Given the description of an element on the screen output the (x, y) to click on. 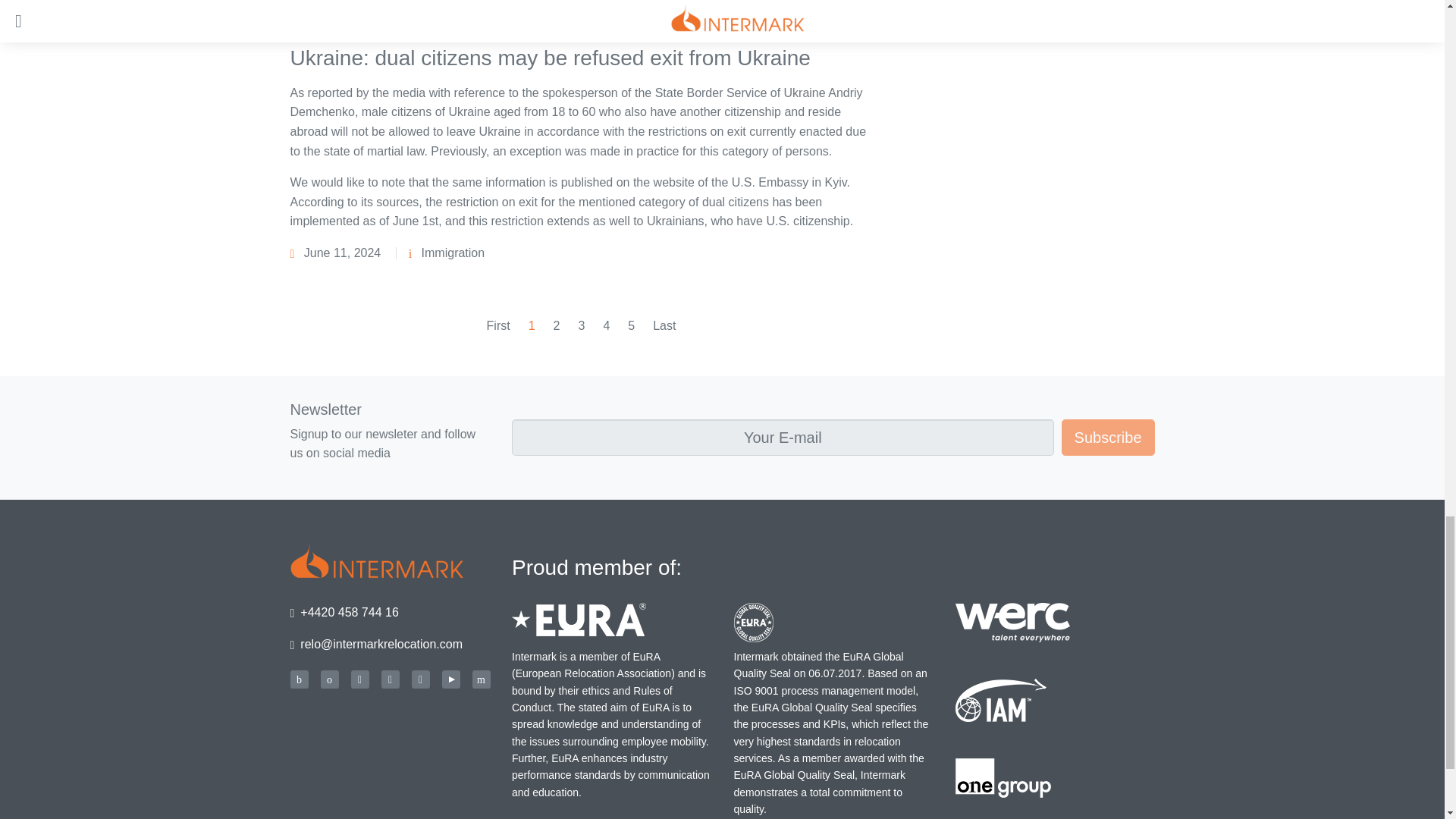
Telegram (480, 679)
Instagram (419, 679)
Castbox.fm (298, 679)
YouTube (450, 679)
Linked In (389, 679)
Facebook (359, 679)
Apple podcast (328, 679)
